Given the description of an element on the screen output the (x, y) to click on. 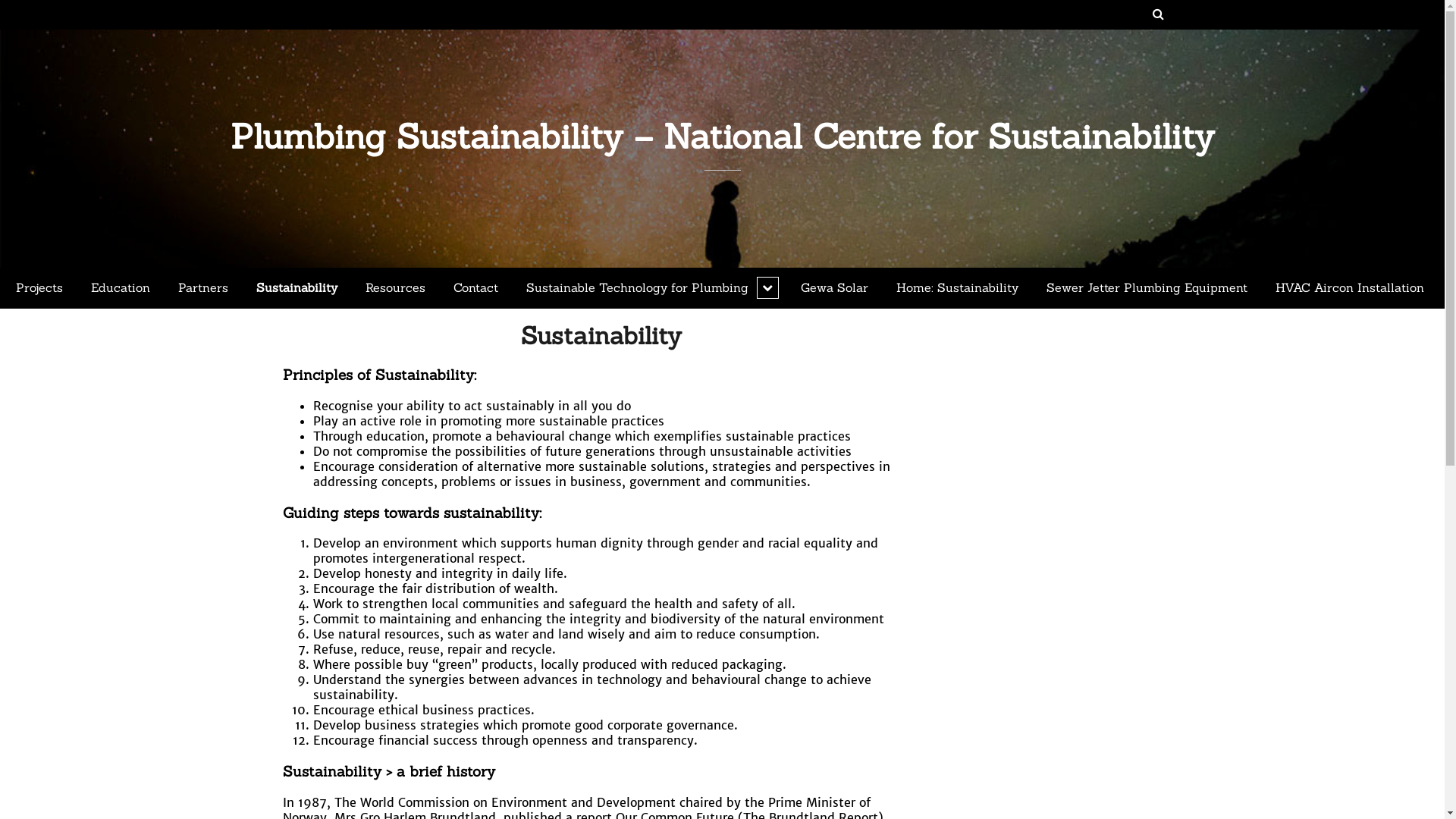
Education Element type: text (120, 288)
Sustainable Technology for Plumbing Element type: text (649, 288)
Projects Element type: text (39, 288)
HVAC Aircon Installation Element type: text (1349, 288)
Partners Element type: text (203, 288)
Resources Element type: text (395, 288)
Home: Sustainability Element type: text (957, 288)
Gewa Solar Element type: text (834, 288)
expand child menu Element type: text (767, 287)
Sustainability Element type: text (296, 288)
Sewer Jetter Plumbing Equipment Element type: text (1146, 288)
Contact Element type: text (475, 288)
Sustainability Element type: text (600, 335)
